Given the description of an element on the screen output the (x, y) to click on. 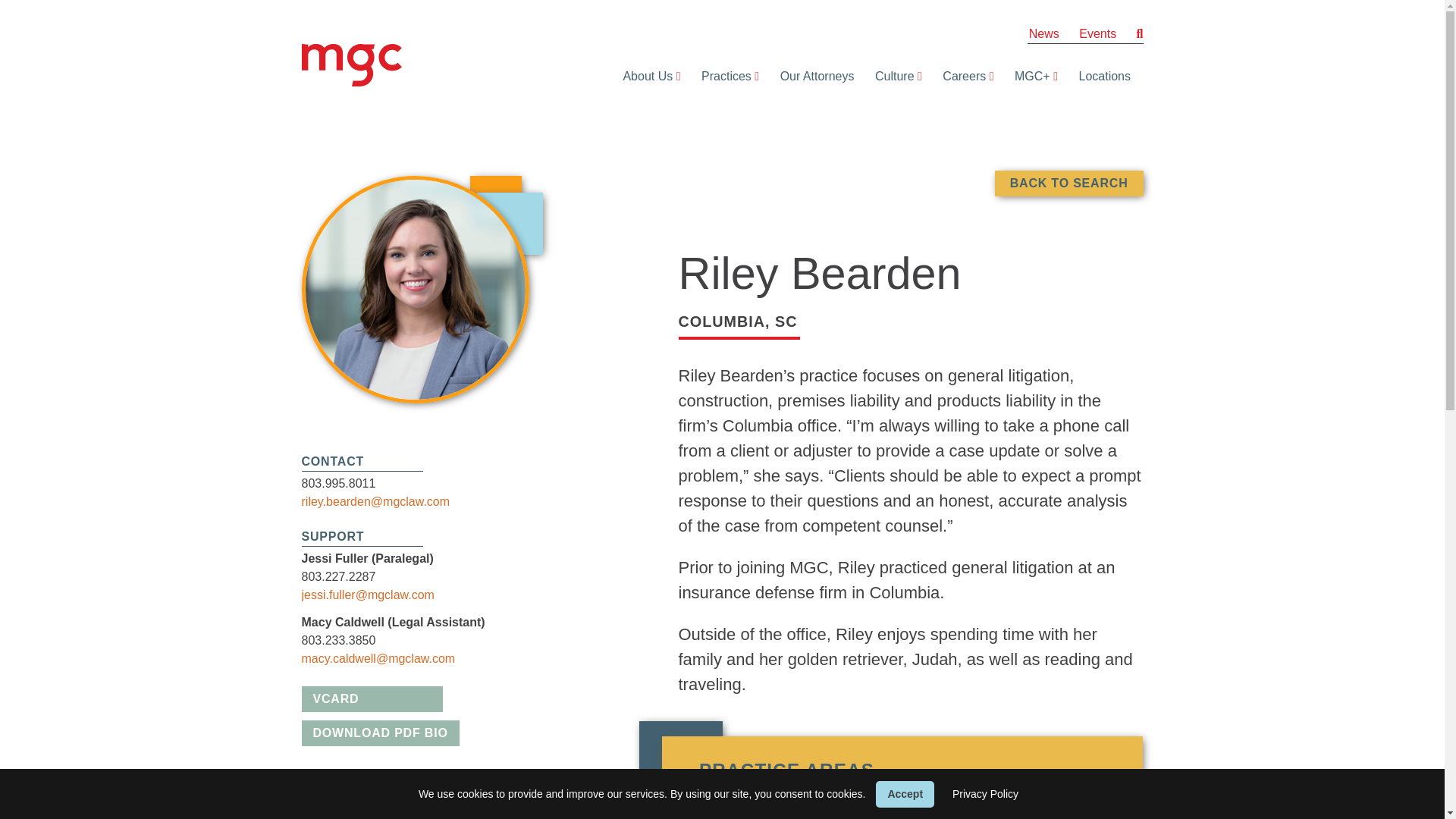
803.233.3850 (338, 640)
Careers (959, 76)
Our Attorneys (812, 76)
News (1044, 33)
BACK TO SEARCH (1068, 183)
803.995.8011 (338, 481)
Events (1097, 33)
Locations (1100, 76)
Practices (722, 76)
Culture (890, 76)
